Given the description of an element on the screen output the (x, y) to click on. 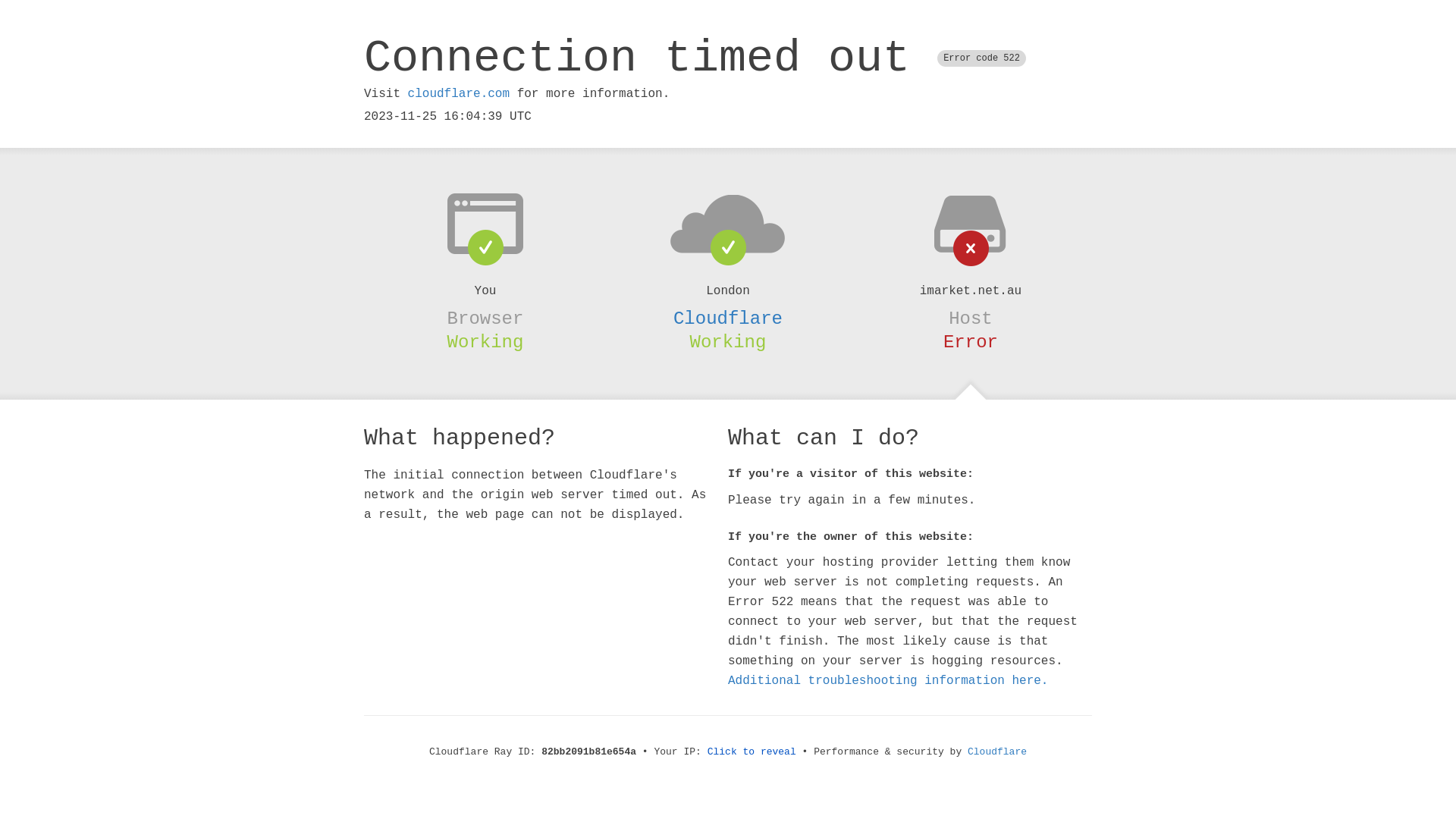
cloudflare.com Element type: text (458, 93)
Additional troubleshooting information here. Element type: text (888, 680)
Cloudflare Element type: text (727, 318)
Cloudflare Element type: text (996, 751)
Click to reveal Element type: text (751, 751)
